Given the description of an element on the screen output the (x, y) to click on. 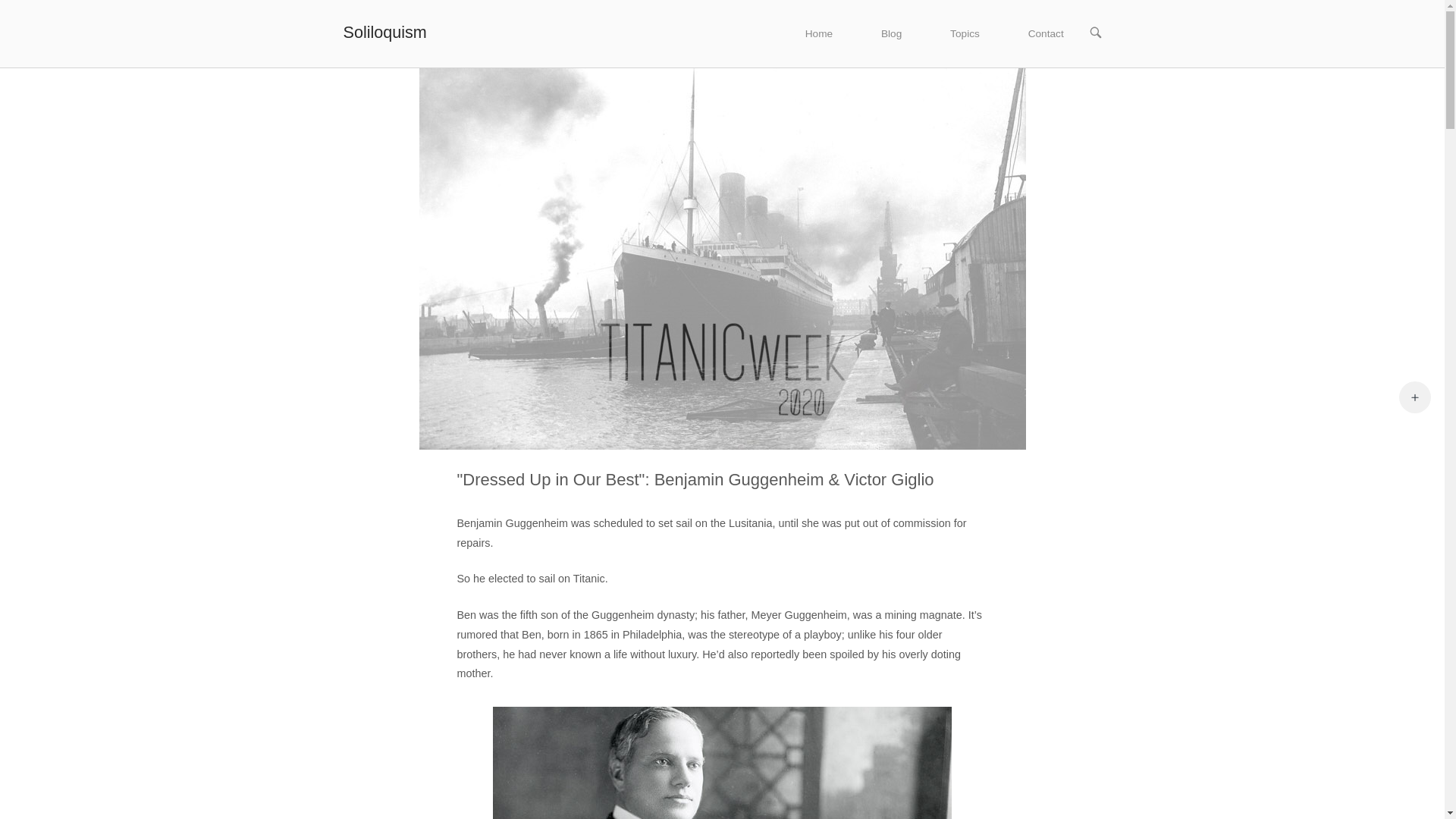
Topics (965, 33)
Home (819, 33)
Soliloquism (384, 31)
Contact (1046, 33)
Blog (891, 33)
